Given the description of an element on the screen output the (x, y) to click on. 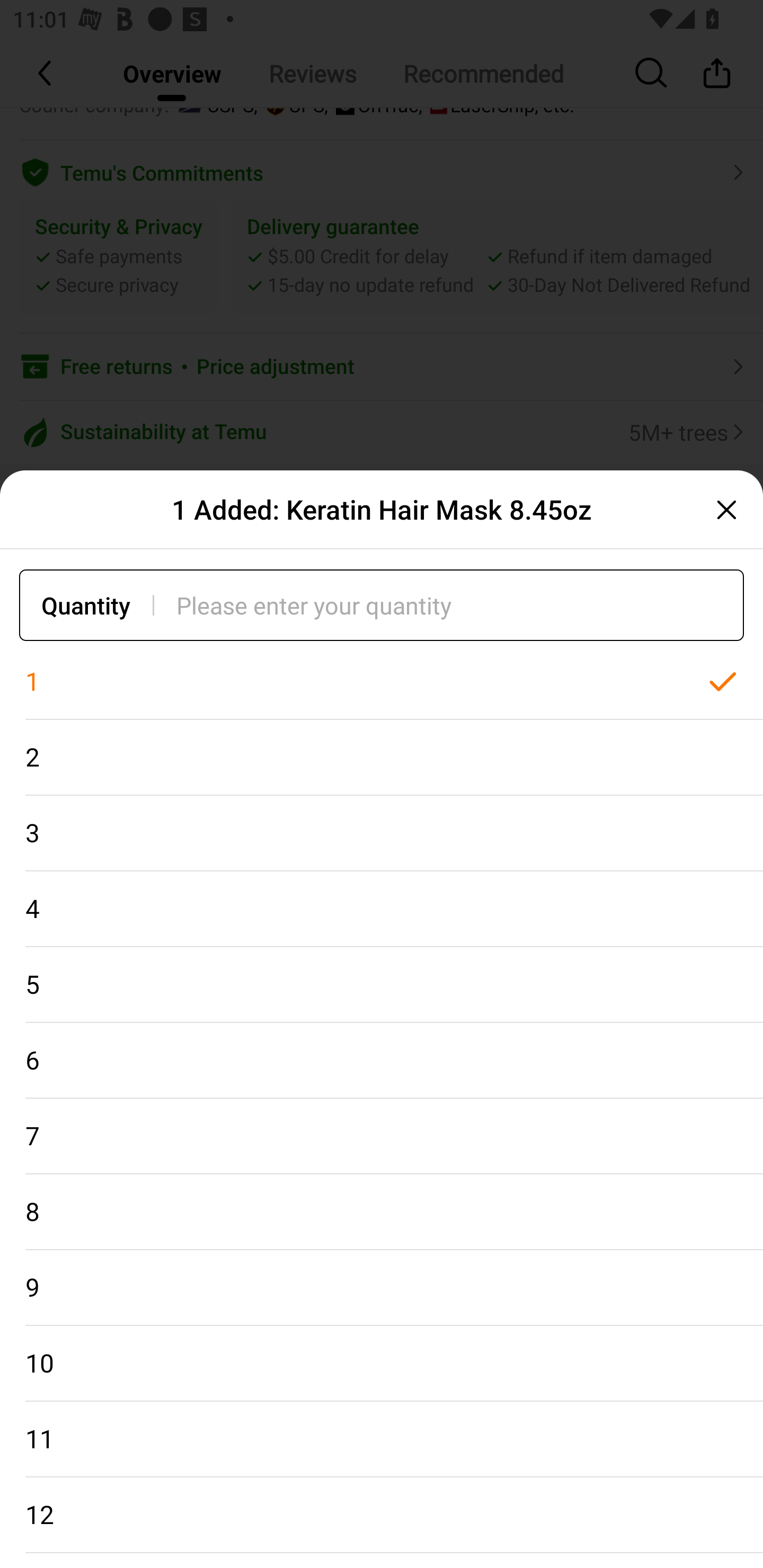
Please enter your quantity (459, 605)
1 (381, 681)
2 (381, 756)
3 (381, 832)
4 (381, 909)
5 (381, 984)
6 (381, 1060)
7 (381, 1136)
8 (381, 1211)
9 (381, 1287)
10 (381, 1363)
11 (381, 1439)
12 (381, 1515)
